Given the description of an element on the screen output the (x, y) to click on. 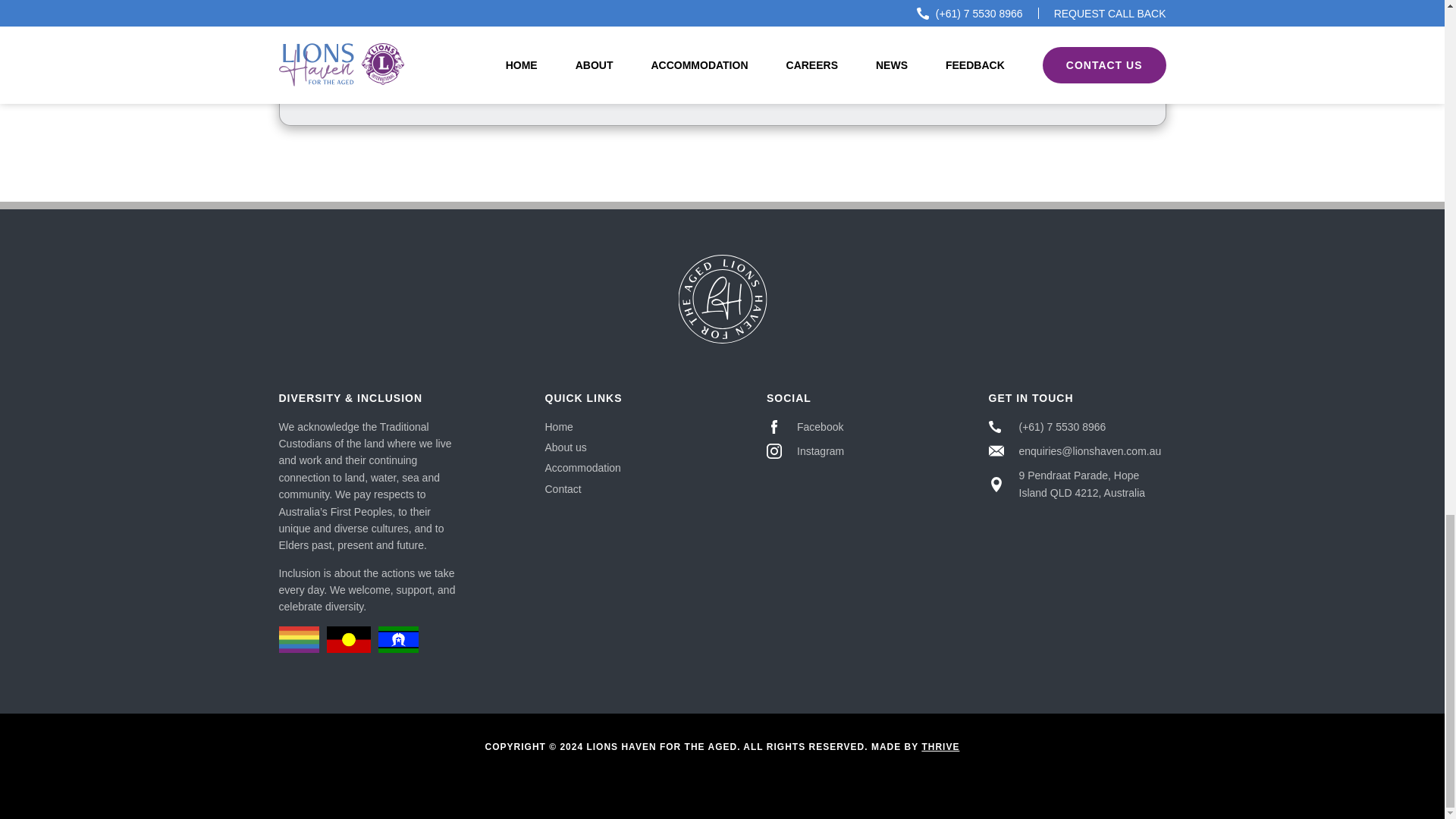
About us (565, 447)
LEARN MORE (1059, 67)
Instagram (833, 451)
Facebook (833, 426)
9 Pendraat Parade, Hope Island QLD 4212, Australia (1077, 483)
Accommodation (582, 467)
Home (558, 426)
Contact (562, 489)
THRIVE (940, 747)
